Given the description of an element on the screen output the (x, y) to click on. 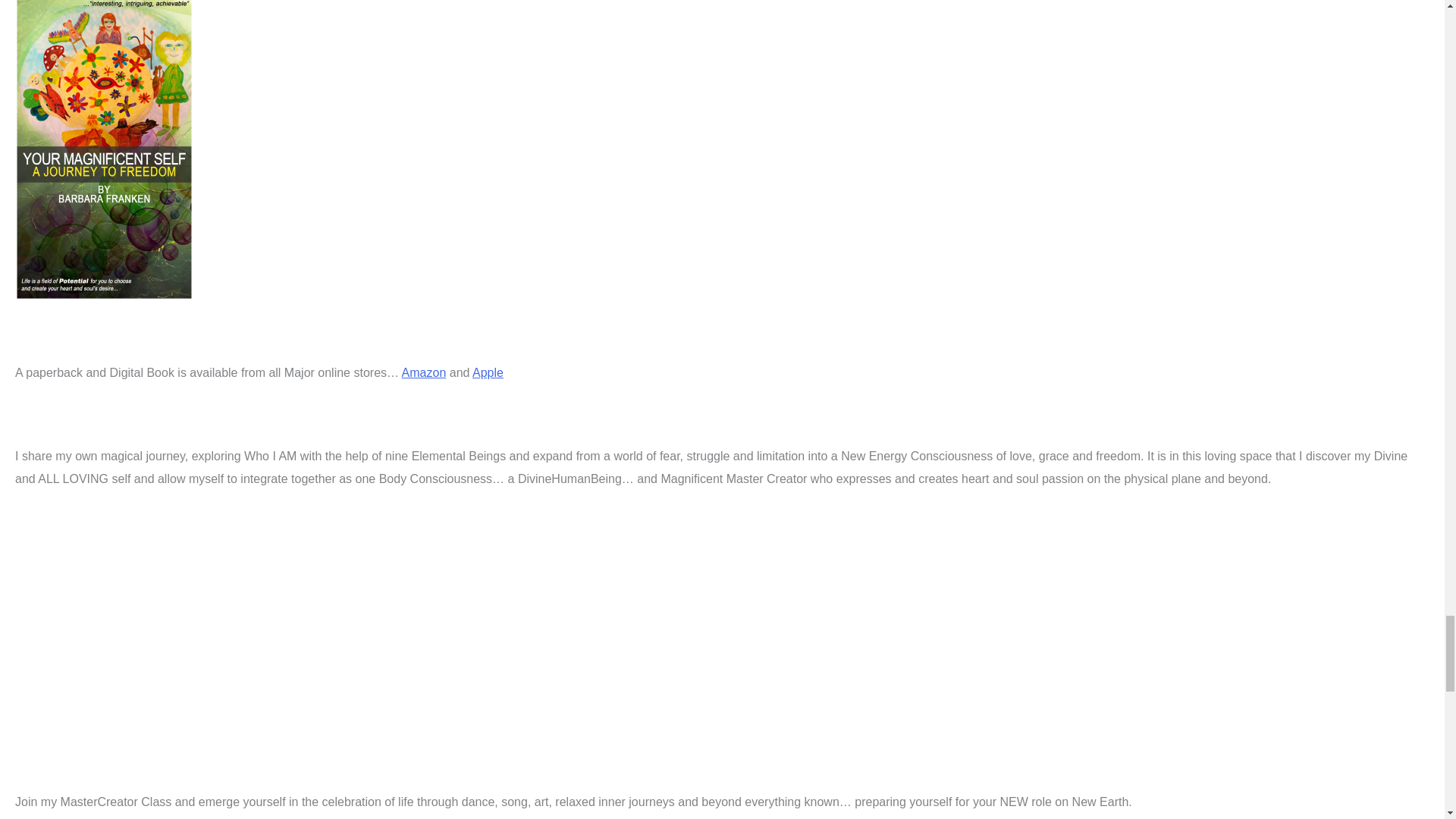
Apple (487, 372)
Amazon (423, 372)
